Given the description of an element on the screen output the (x, y) to click on. 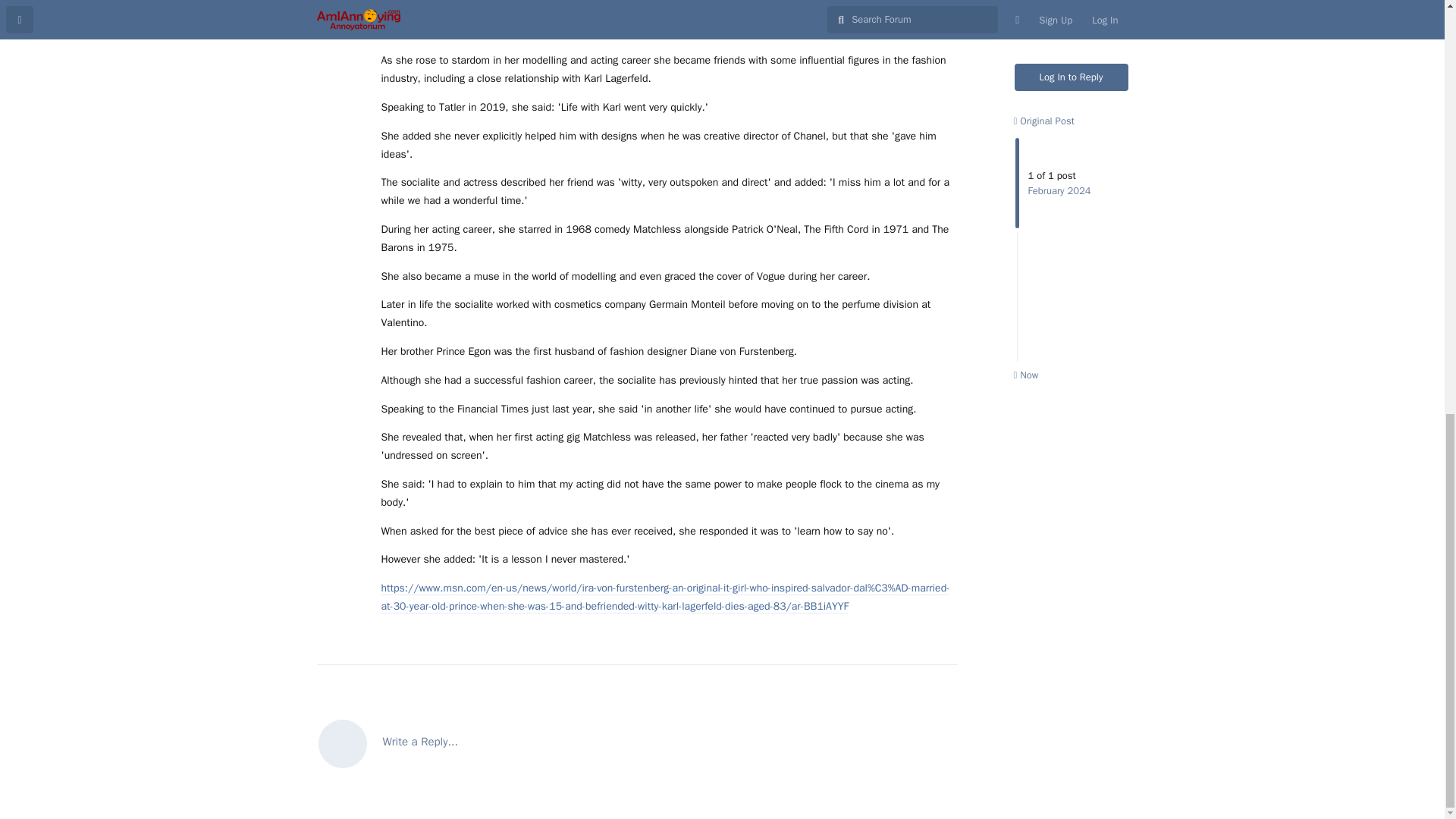
Write a Reply... (636, 742)
